Given the description of an element on the screen output the (x, y) to click on. 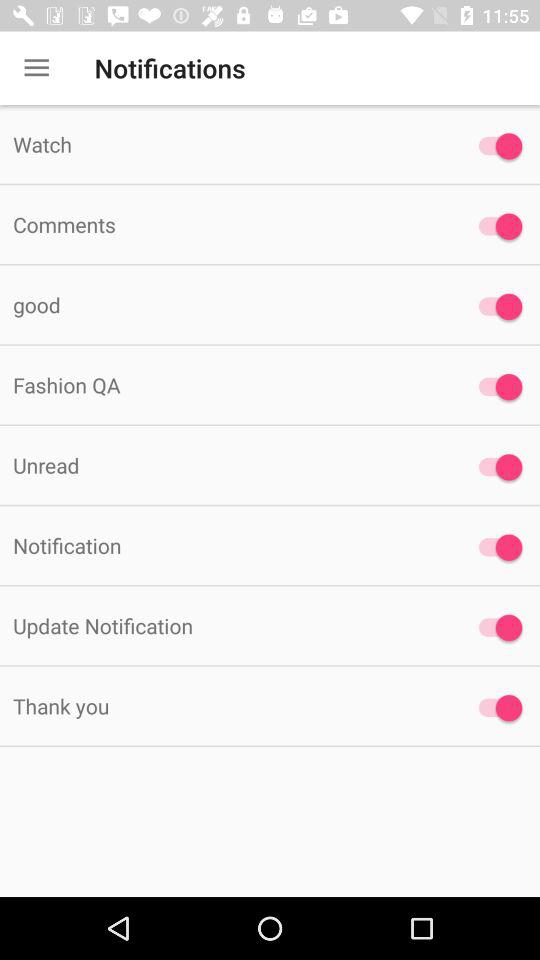
scroll until thank you (225, 705)
